Given the description of an element on the screen output the (x, y) to click on. 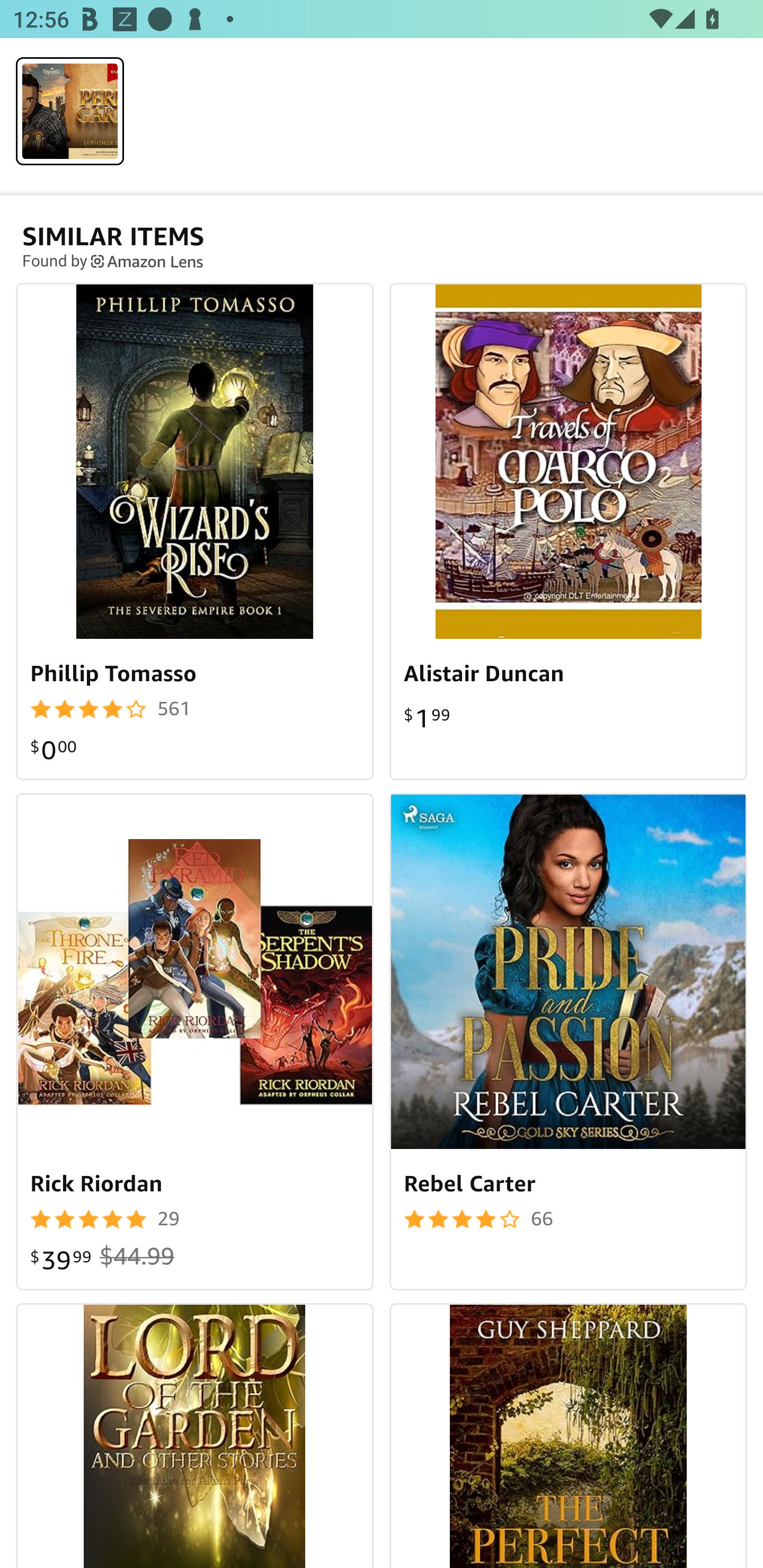
Phillip Tomasso 561 $ 0 00 (194, 531)
Alistair Duncan $ 1 99 (567, 531)
Rick Riordan 29 $ 39 99 $44.99 (194, 1041)
Rebel Carter 66 (567, 1041)
